Given the description of an element on the screen output the (x, y) to click on. 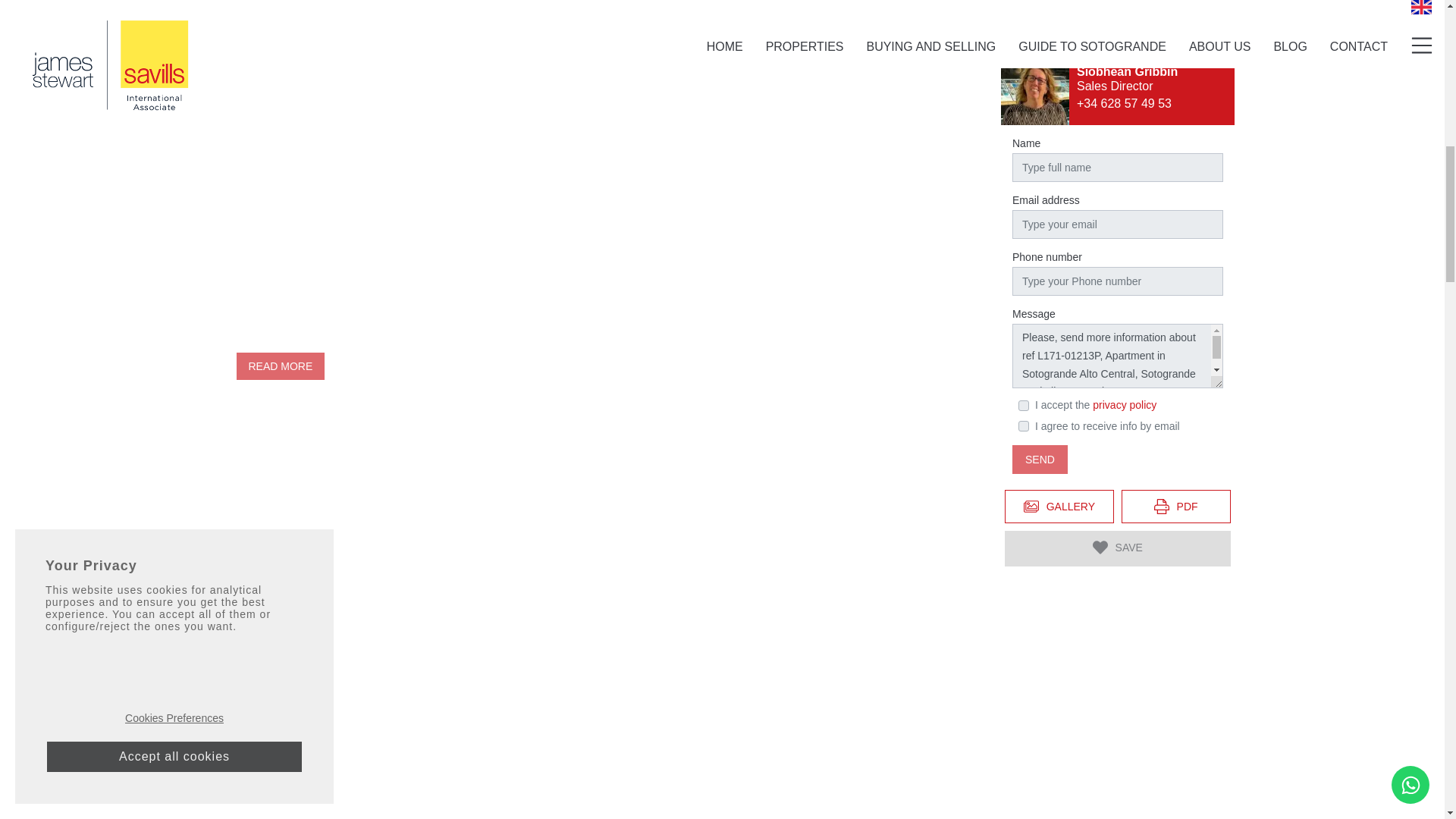
VIEW MORE (772, 20)
View 20 Gallery (1058, 343)
PDF (1175, 343)
privacy policy (1124, 241)
SEND (1039, 296)
READ MORE (280, 366)
SAVE (1117, 385)
privacy policy (1124, 241)
GALLERY (1058, 343)
